Given the description of an element on the screen output the (x, y) to click on. 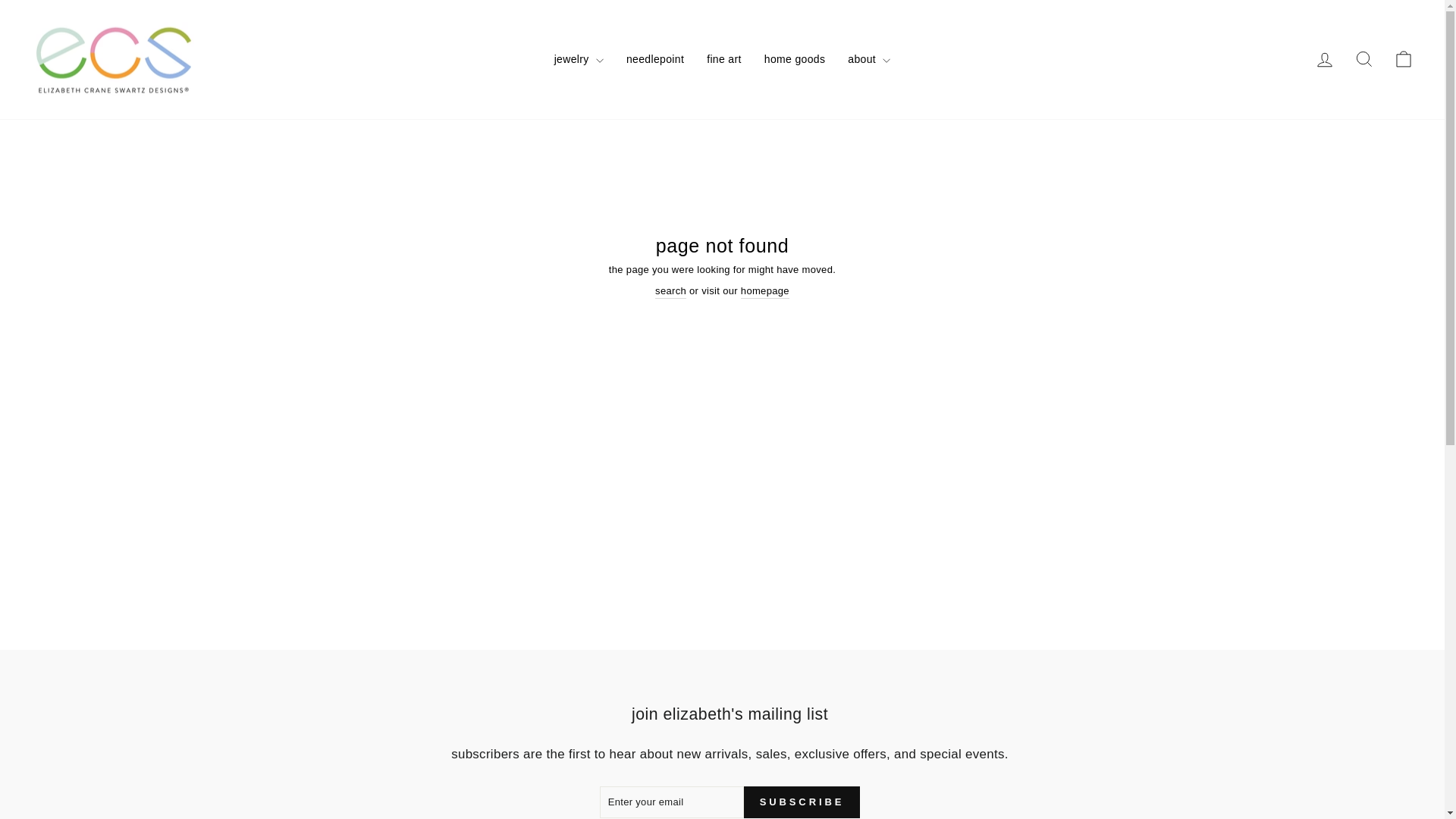
search (670, 291)
fine art (723, 59)
icon-search (1323, 59)
home goods (1363, 59)
icon-bag-minimal (1364, 58)
account (794, 59)
needlepoint (1403, 58)
